Given the description of an element on the screen output the (x, y) to click on. 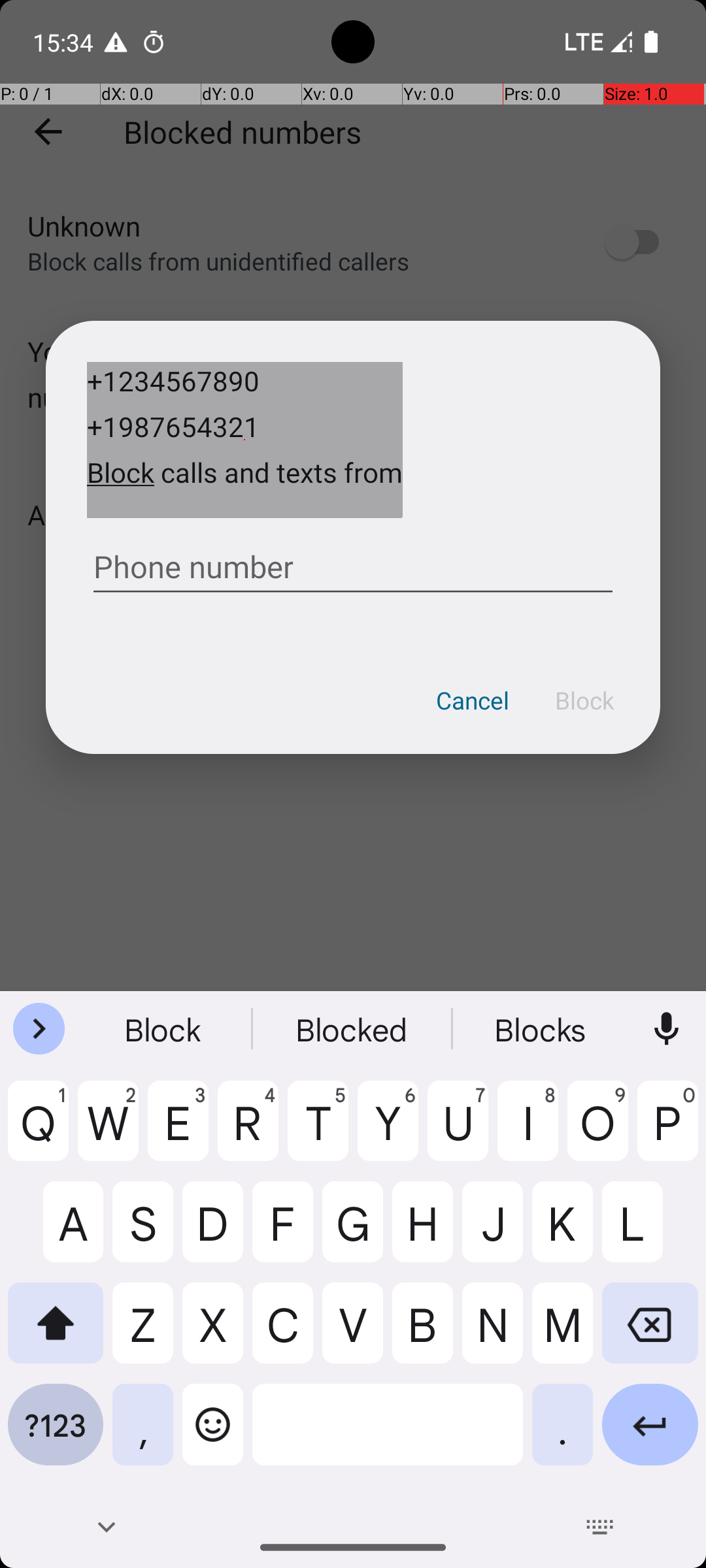
+1234567890
+1987654321
Block calls and texts from Element type: android.widget.TextView (244, 439)
Phone number Element type: android.widget.EditText (352, 561)
Block Element type: android.widget.Button (584, 699)
Switch input method Element type: android.widget.ImageView (599, 1526)
Open features menu Element type: android.widget.FrameLayout (39, 1028)
Blocked Element type: android.widget.FrameLayout (352, 1028)
Blocks Element type: android.widget.FrameLayout (541, 1028)
Voice input Element type: android.widget.FrameLayout (666, 1028)
Q Element type: android.widget.FrameLayout (38, 1130)
E Element type: android.widget.FrameLayout (178, 1130)
R Element type: android.widget.FrameLayout (248, 1130)
Y Element type: android.widget.FrameLayout (387, 1130)
U Element type: android.widget.FrameLayout (457, 1130)
I Element type: android.widget.FrameLayout (527, 1130)
O Element type: android.widget.FrameLayout (597, 1130)
P Element type: android.widget.FrameLayout (667, 1130)
A Element type: android.widget.FrameLayout (55, 1231)
D Element type: android.widget.FrameLayout (212, 1231)
G Element type: android.widget.FrameLayout (352, 1231)
H Element type: android.widget.FrameLayout (422, 1231)
J Element type: android.widget.FrameLayout (492, 1231)
K Element type: android.widget.FrameLayout (562, 1231)
L Element type: android.widget.FrameLayout (649, 1231)
Shift Element type: android.widget.FrameLayout (55, 1332)
Z Element type: android.widget.FrameLayout (142, 1332)
X Element type: android.widget.FrameLayout (212, 1332)
C Element type: android.widget.FrameLayout (282, 1332)
V Element type: android.widget.FrameLayout (352, 1332)
B Element type: android.widget.FrameLayout (422, 1332)
N Element type: android.widget.FrameLayout (492, 1332)
Symbol keyboard Element type: android.widget.FrameLayout (55, 1434)
, Element type: android.widget.FrameLayout (142, 1434)
Emoji button Element type: android.widget.FrameLayout (212, 1434)
Space Element type: android.widget.FrameLayout (387, 1434)
. Element type: android.widget.FrameLayout (562, 1434)
Enter Element type: android.widget.FrameLayout (649, 1434)
